Given the description of an element on the screen output the (x, y) to click on. 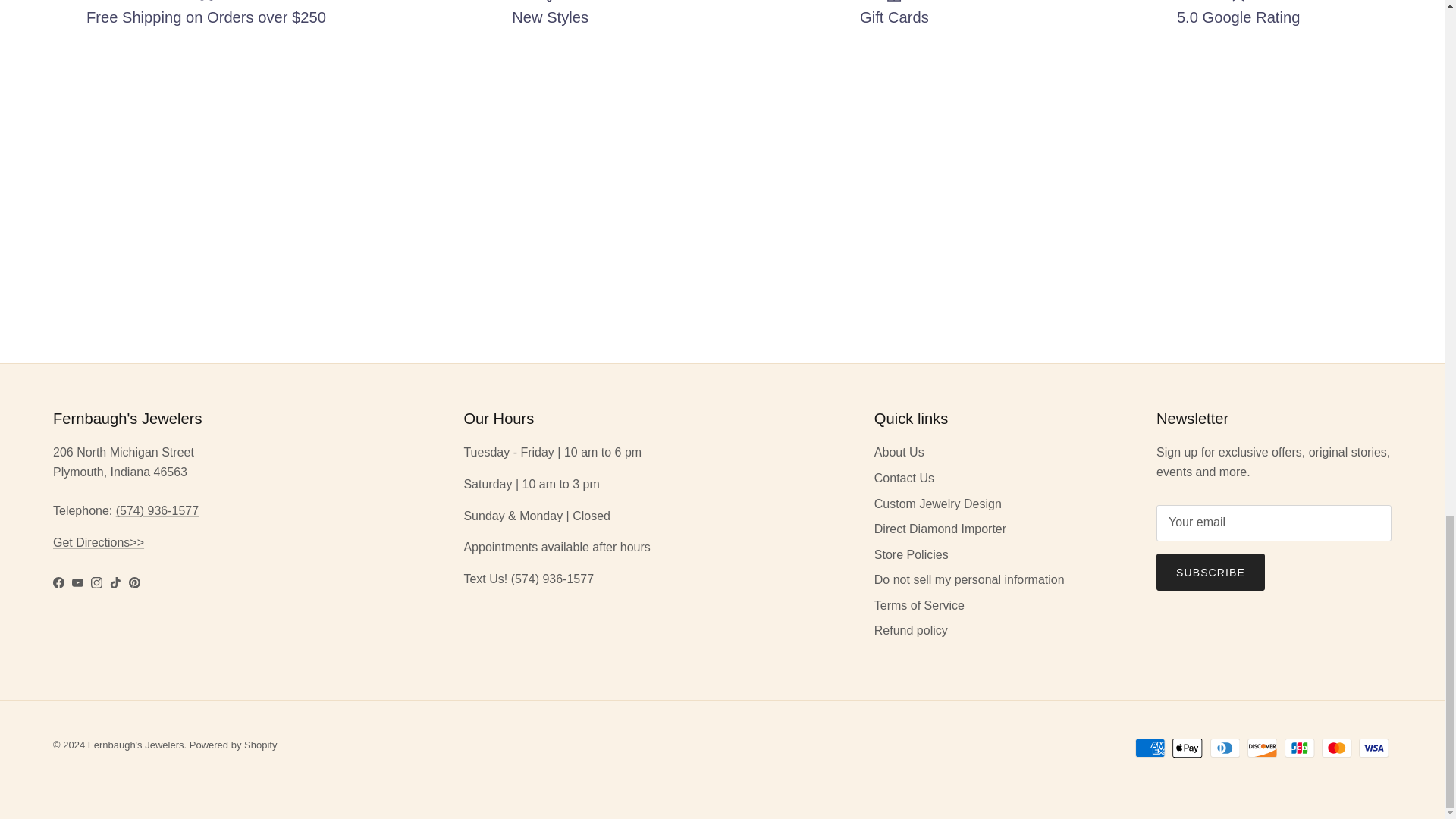
Fernbaugh's Jewelers on Instagram (95, 582)
tel:15749361577 (157, 510)
Fernbaugh's Jewelers on Facebook (58, 582)
Apple Pay (1187, 747)
Fernbaugh's Jewelers on YouTube (76, 582)
American Express (1149, 747)
Fernbaugh's Jewelers on TikTok (115, 582)
Fernbaugh's Jewelers on Pinterest (134, 582)
